Given the description of an element on the screen output the (x, y) to click on. 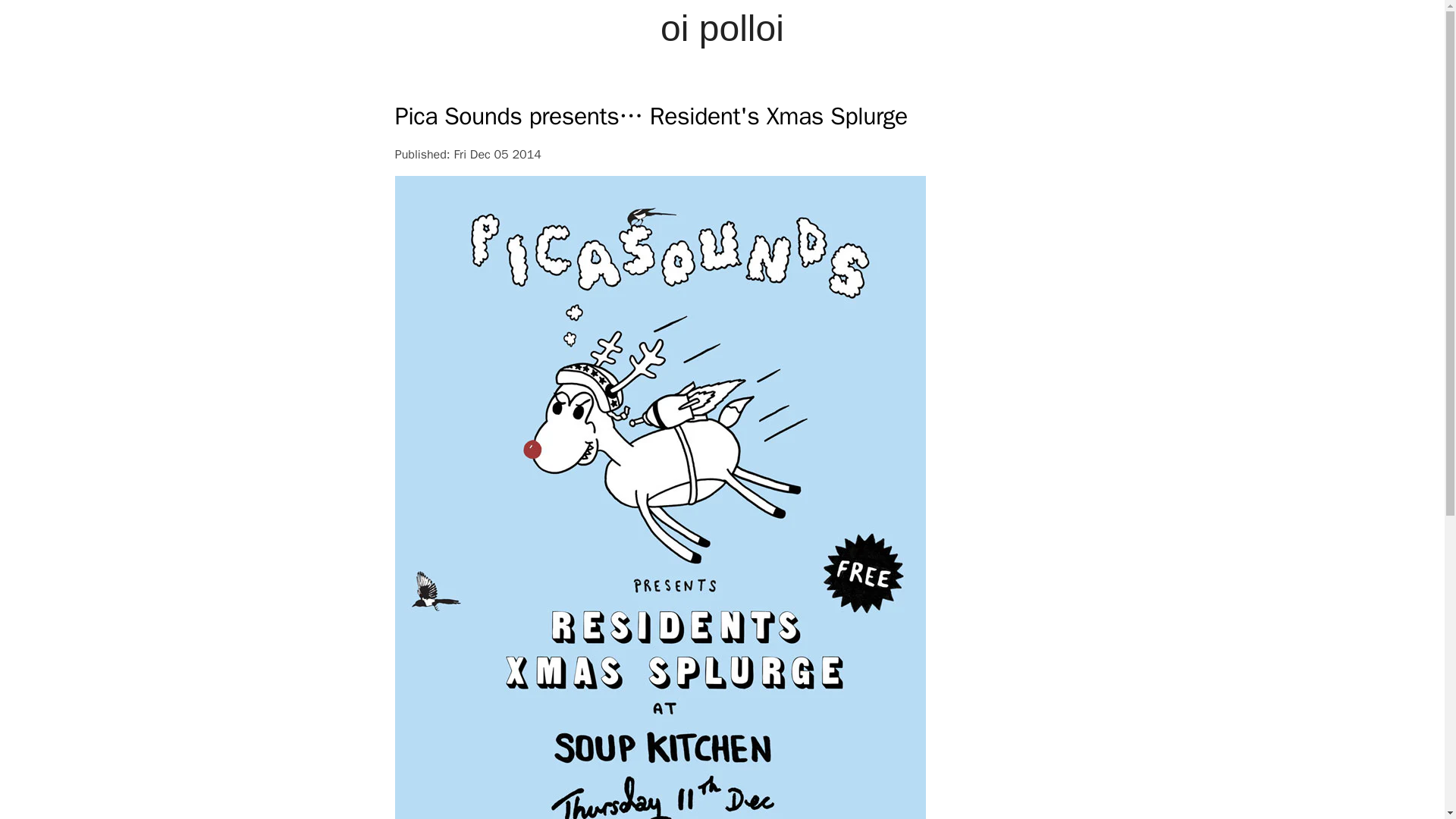
oi polloi (722, 28)
